Given the description of an element on the screen output the (x, y) to click on. 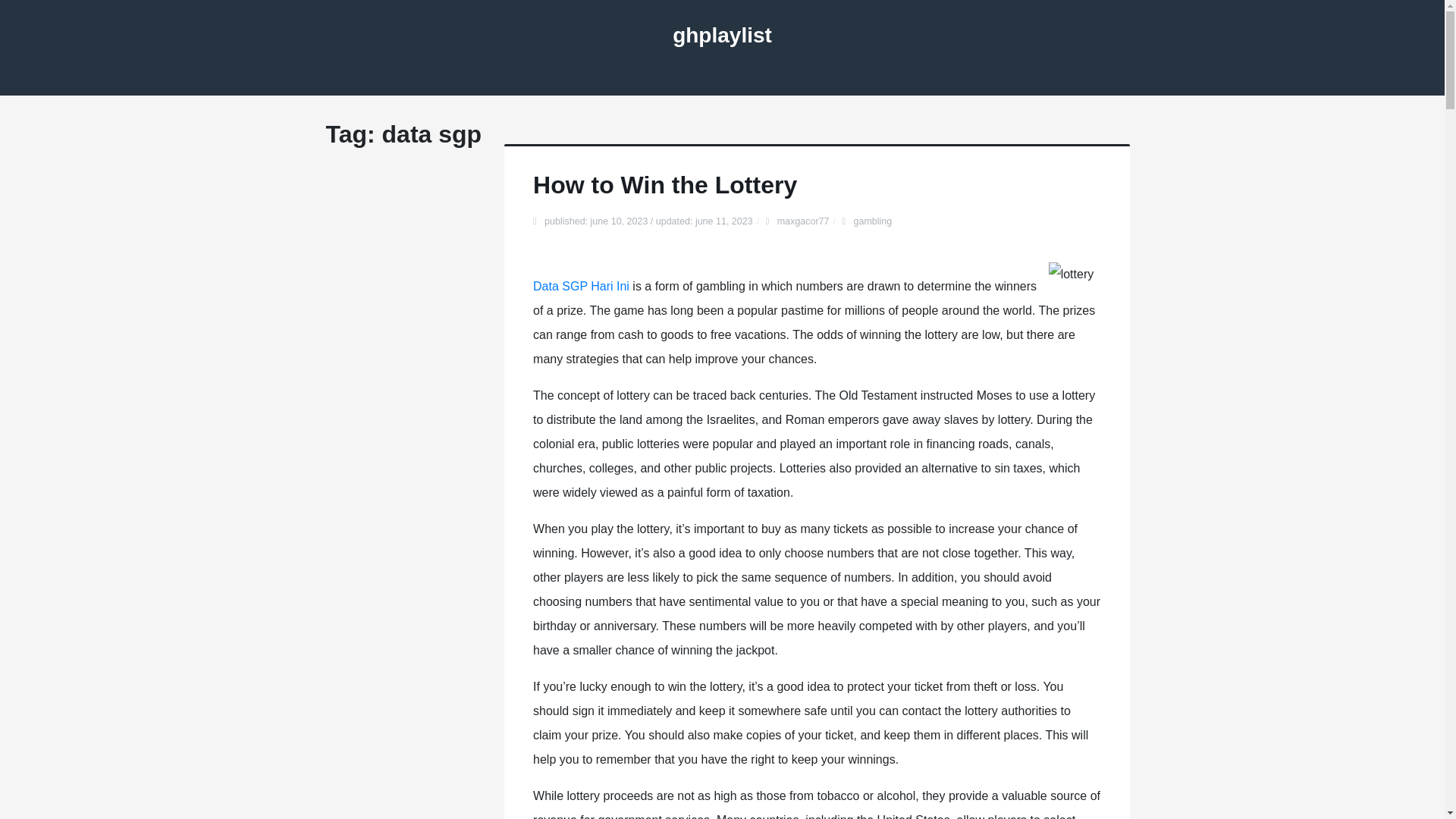
ghplaylist (721, 34)
Data SGP Hari Ini (580, 286)
gambling (872, 221)
How to Win the Lottery (664, 185)
maxgacor77 (803, 221)
